Given the description of an element on the screen output the (x, y) to click on. 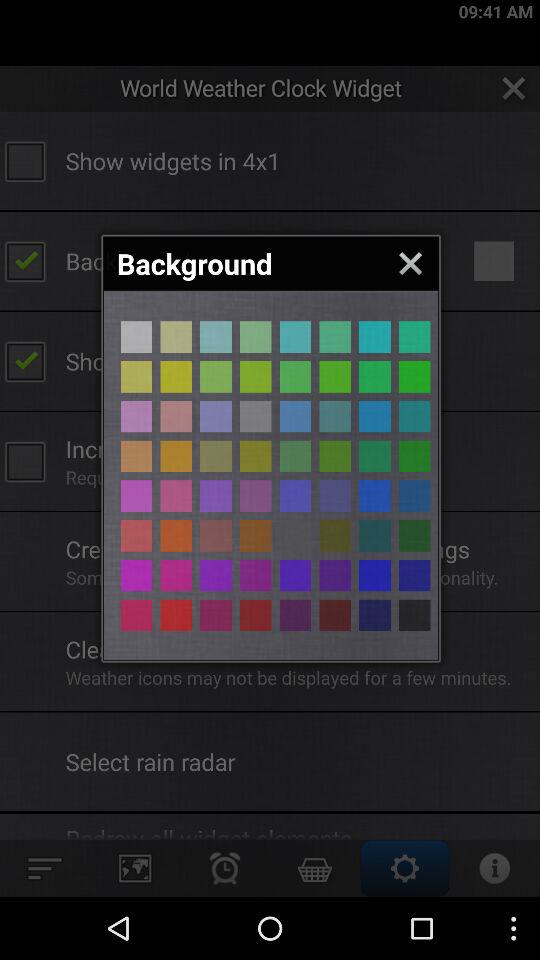
orange background (335, 575)
